Given the description of an element on the screen output the (x, y) to click on. 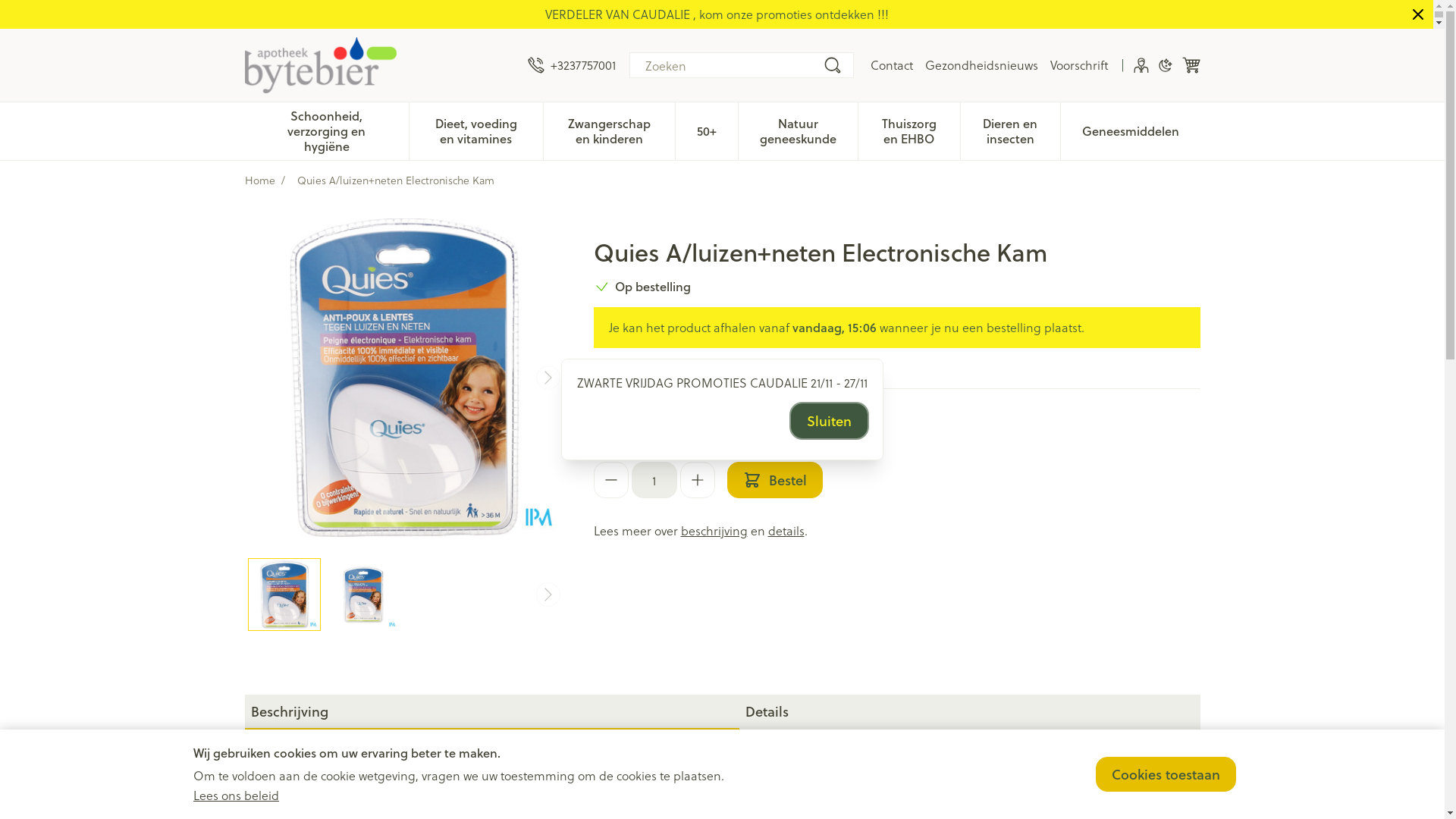
Dieren en insecten Element type: text (1010, 129)
Frank Bytebier Element type: hover (379, 64)
Home Element type: text (259, 180)
Bestel Element type: text (774, 479)
Voorschrift Element type: text (1078, 64)
50+ Element type: text (706, 129)
Donkere modus Element type: text (1164, 64)
Lees ons beleid Element type: text (236, 794)
Dieet, voeding en vitamines Element type: text (475, 129)
Frank Bytebier Element type: hover (319, 65)
Sluiten Element type: text (828, 420)
+3237757001 Element type: text (571, 64)
Klant menu Element type: text (1140, 64)
Gezondheidsnieuws Element type: text (981, 64)
Geneesmiddelen Element type: text (1130, 129)
Cookies toestaan Element type: text (1165, 773)
Winkelwagen Element type: text (1190, 65)
Natuur geneeskunde Element type: text (797, 129)
Zoeken Element type: text (832, 65)
Quies A/luizen+neten Electronische Kam Element type: hover (403, 377)
Thuiszorg en EHBO Element type: text (909, 129)
Quies A/luizen+neten Electronische Kam 1 Element type: hover (363, 594)
Zwangerschap en kinderen Element type: text (608, 129)
Quies A/luizen+neten Electronische Kam Element type: hover (284, 594)
Contact Element type: text (891, 64)
